Given the description of an element on the screen output the (x, y) to click on. 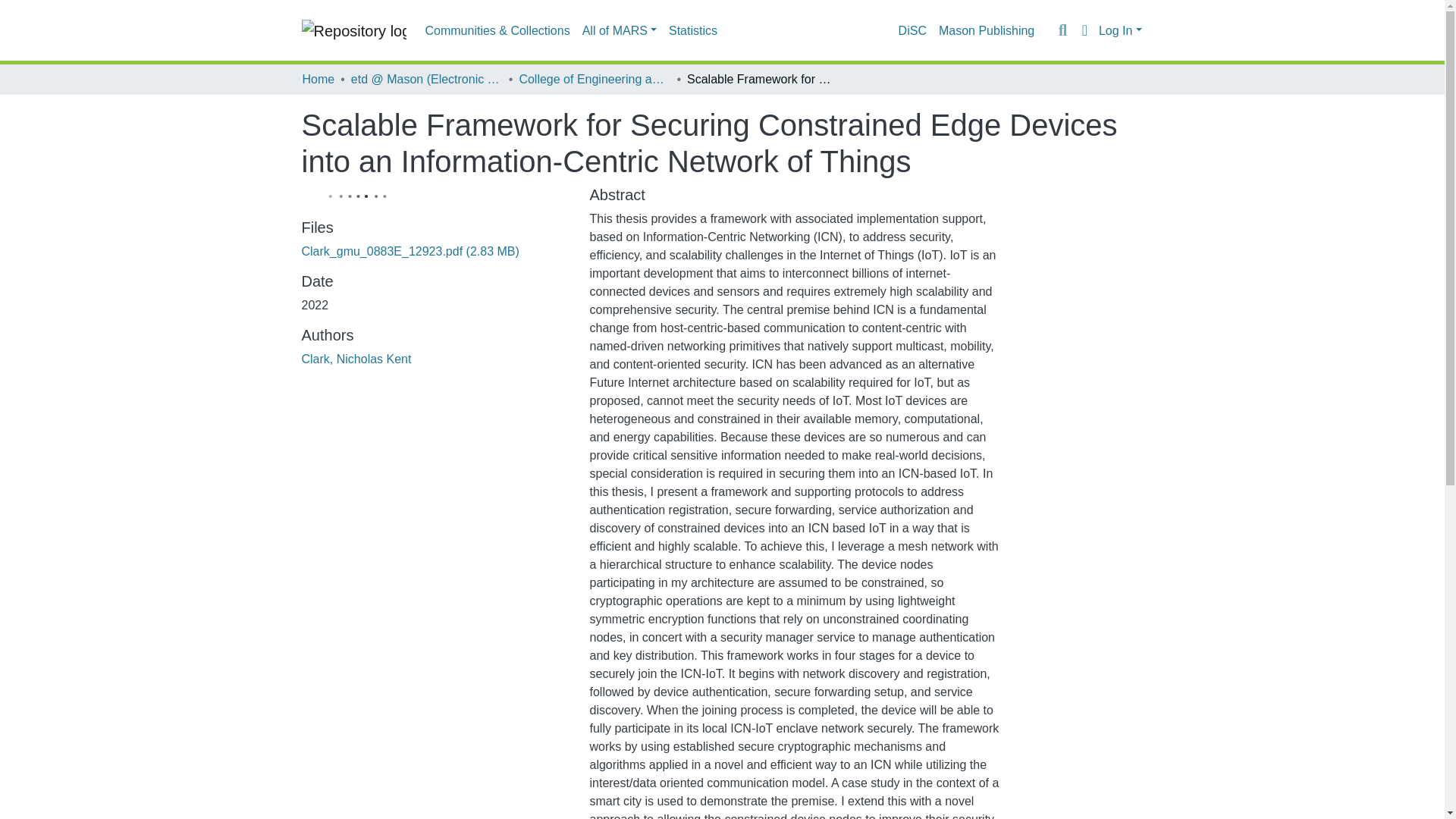
Statistics (692, 30)
Search (1061, 30)
Clark, Nicholas Kent (356, 358)
All of MARS (619, 30)
Log In (1119, 30)
Home (317, 79)
DiSC (912, 30)
Language switch (1084, 30)
College of Engineering and Computing (593, 79)
Statistics (692, 30)
Mason Publishing (987, 30)
